Given the description of an element on the screen output the (x, y) to click on. 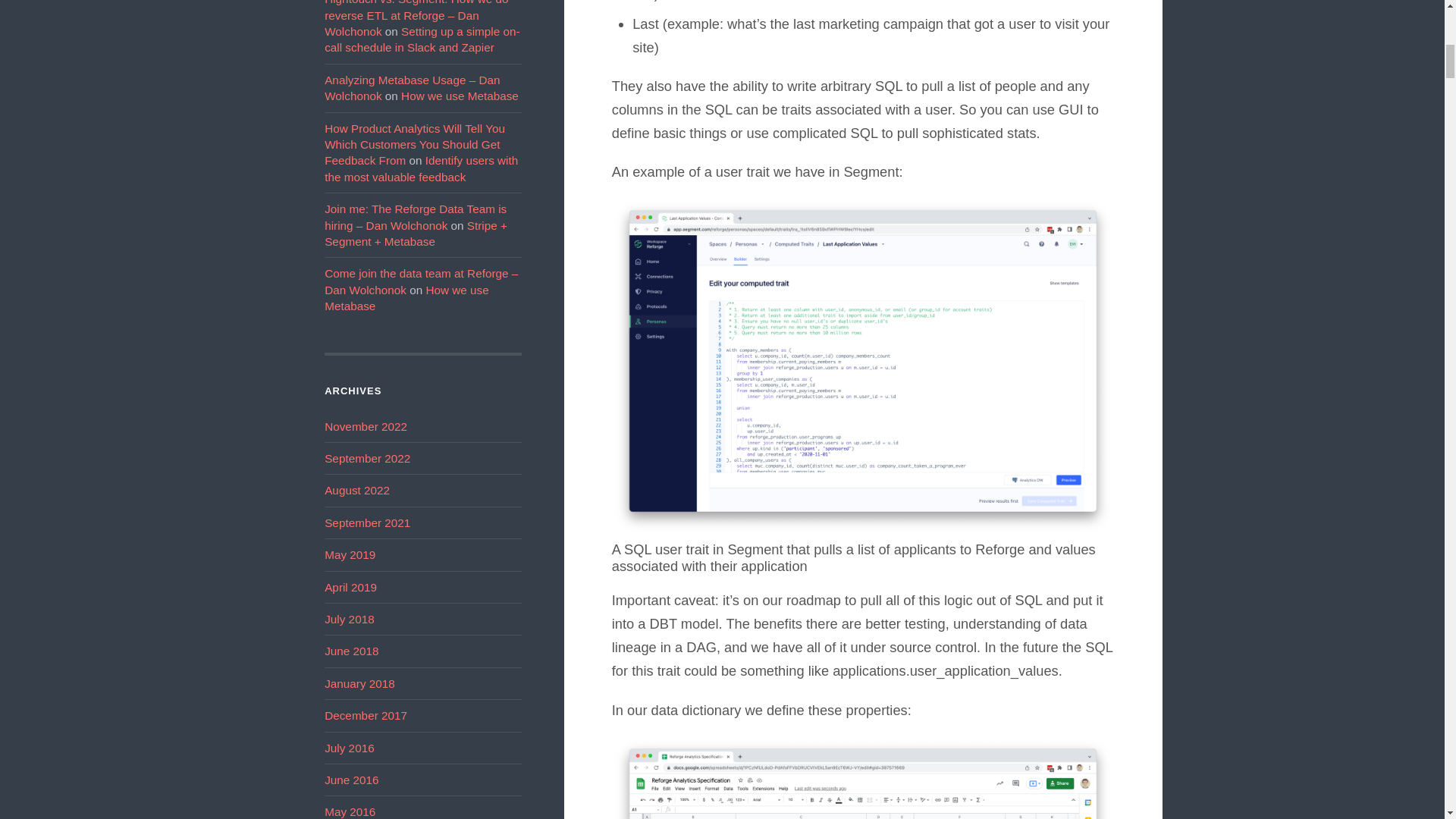
June 2018 (351, 650)
Identify users with the most valuable feedback (421, 167)
June 2016 (351, 779)
May 2019 (349, 554)
November 2022 (365, 426)
January 2018 (359, 683)
September 2022 (367, 458)
September 2021 (367, 522)
May 2016 (349, 811)
